Given the description of an element on the screen output the (x, y) to click on. 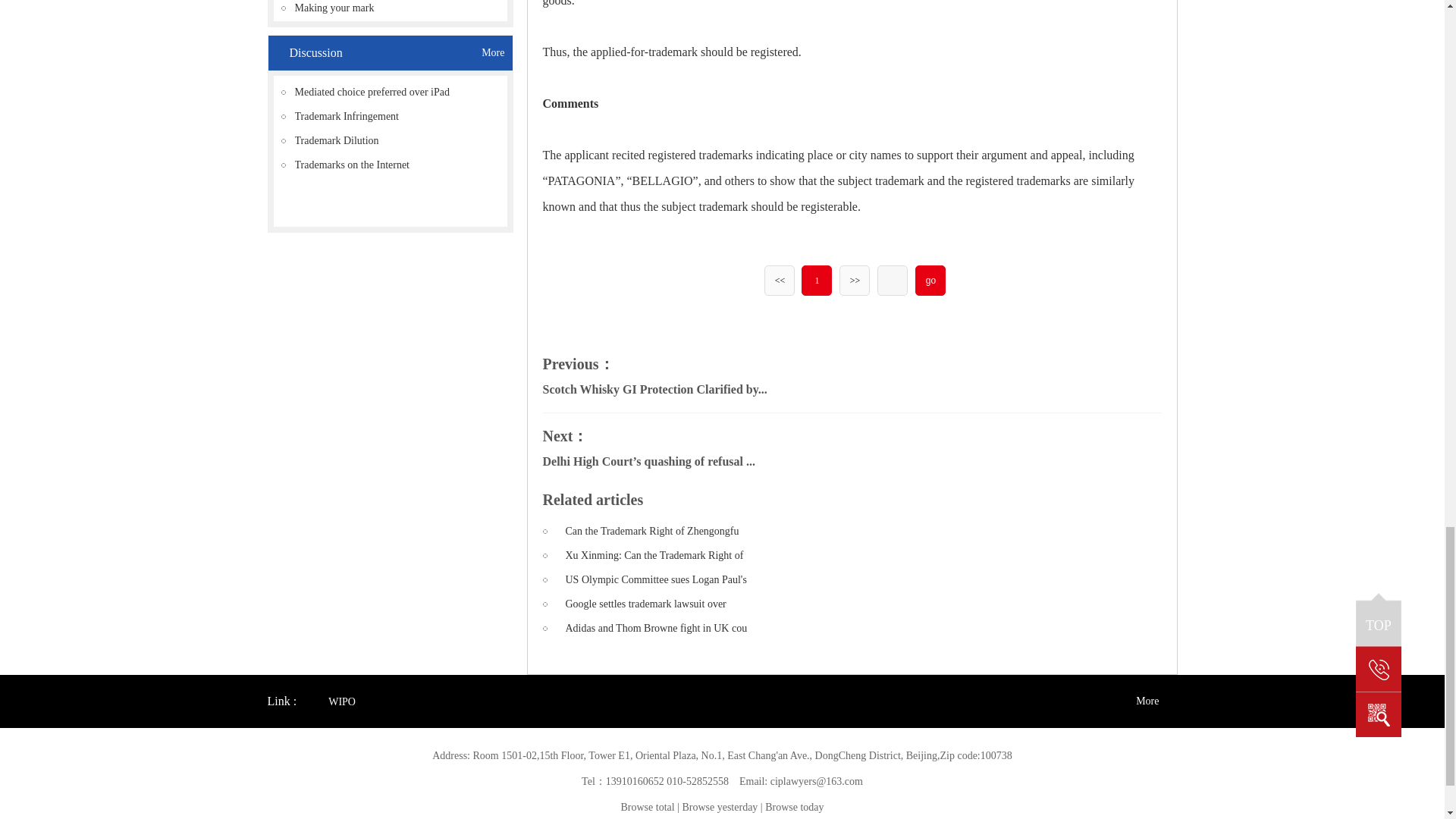
go (929, 280)
